Given the description of an element on the screen output the (x, y) to click on. 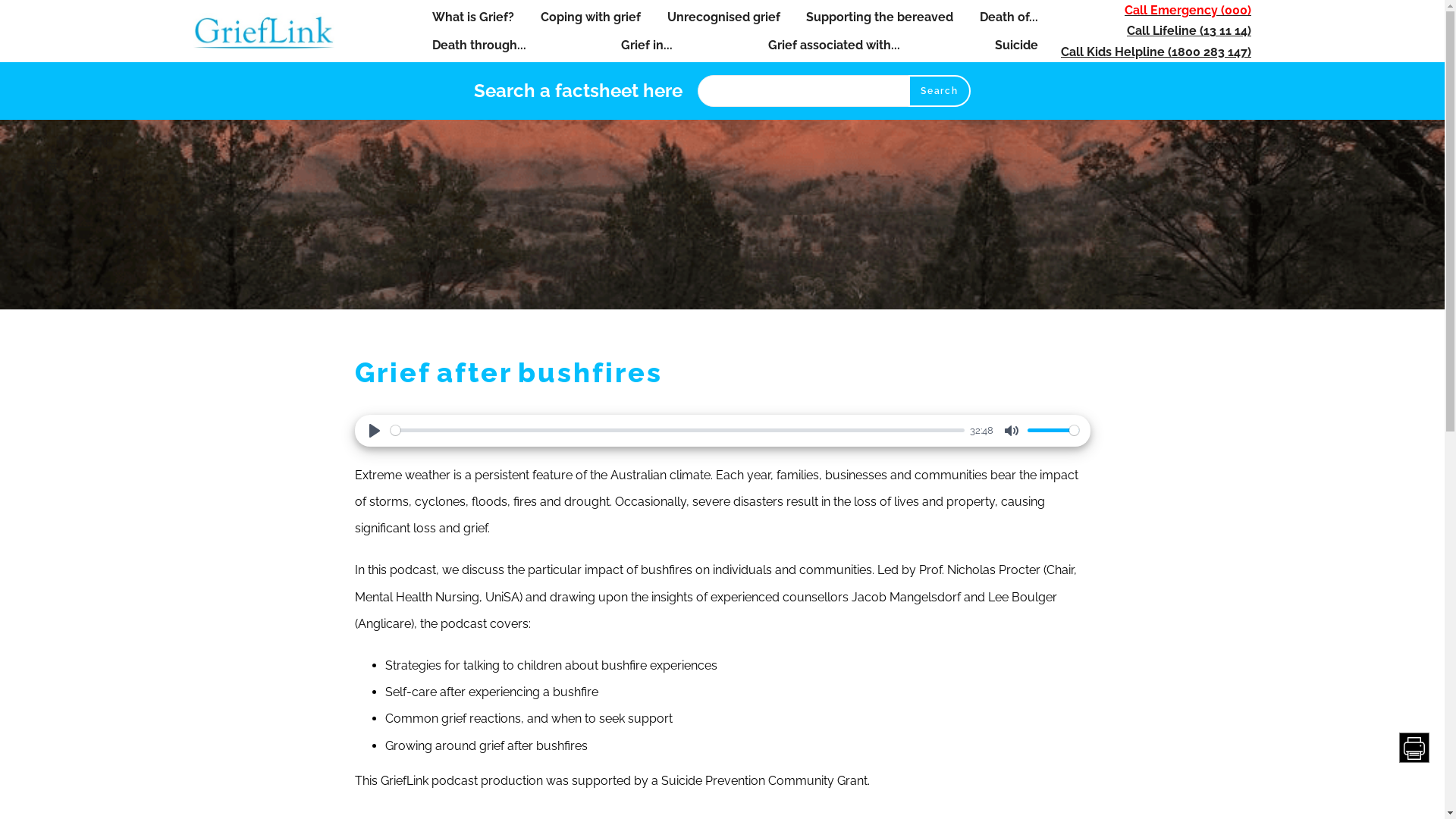
Mute Element type: text (1011, 430)
Call Lifeline (13 11 14) Element type: text (1188, 30)
Coping with grief Element type: text (590, 17)
Grief associated with... Element type: text (833, 45)
Suicide Element type: text (1016, 45)
Supporting the bereaved Element type: text (879, 17)
What is Grief? Element type: text (472, 17)
GriefLink Element type: hover (269, 30)
Call Kids Helpline (1800 283 147) Element type: text (1155, 51)
Play Element type: text (374, 430)
Call Emergency (000) Element type: text (1187, 10)
Search Element type: text (938, 90)
Grief in... Element type: text (646, 45)
Death of... Element type: text (1008, 17)
Death through... Element type: text (478, 45)
Unrecognised grief Element type: text (722, 17)
